Given the description of an element on the screen output the (x, y) to click on. 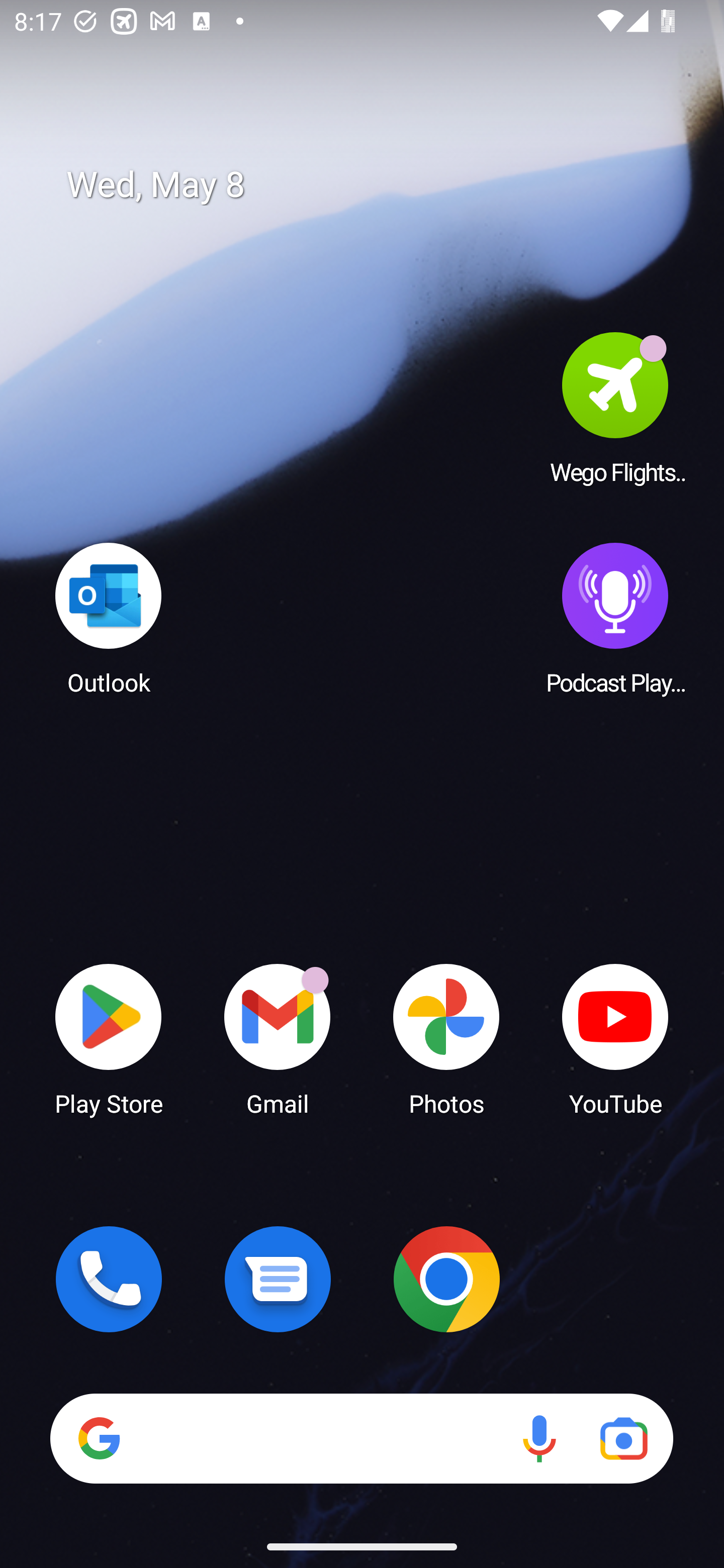
Wed, May 8 (375, 184)
Outlook (108, 617)
Podcast Player (615, 617)
Play Store (108, 1038)
Gmail Gmail has 17 notifications (277, 1038)
Photos (445, 1038)
YouTube (615, 1038)
Phone (108, 1279)
Messages (277, 1279)
Chrome (446, 1279)
Search Voice search Google Lens (361, 1438)
Voice search (539, 1438)
Google Lens (623, 1438)
